Given the description of an element on the screen output the (x, y) to click on. 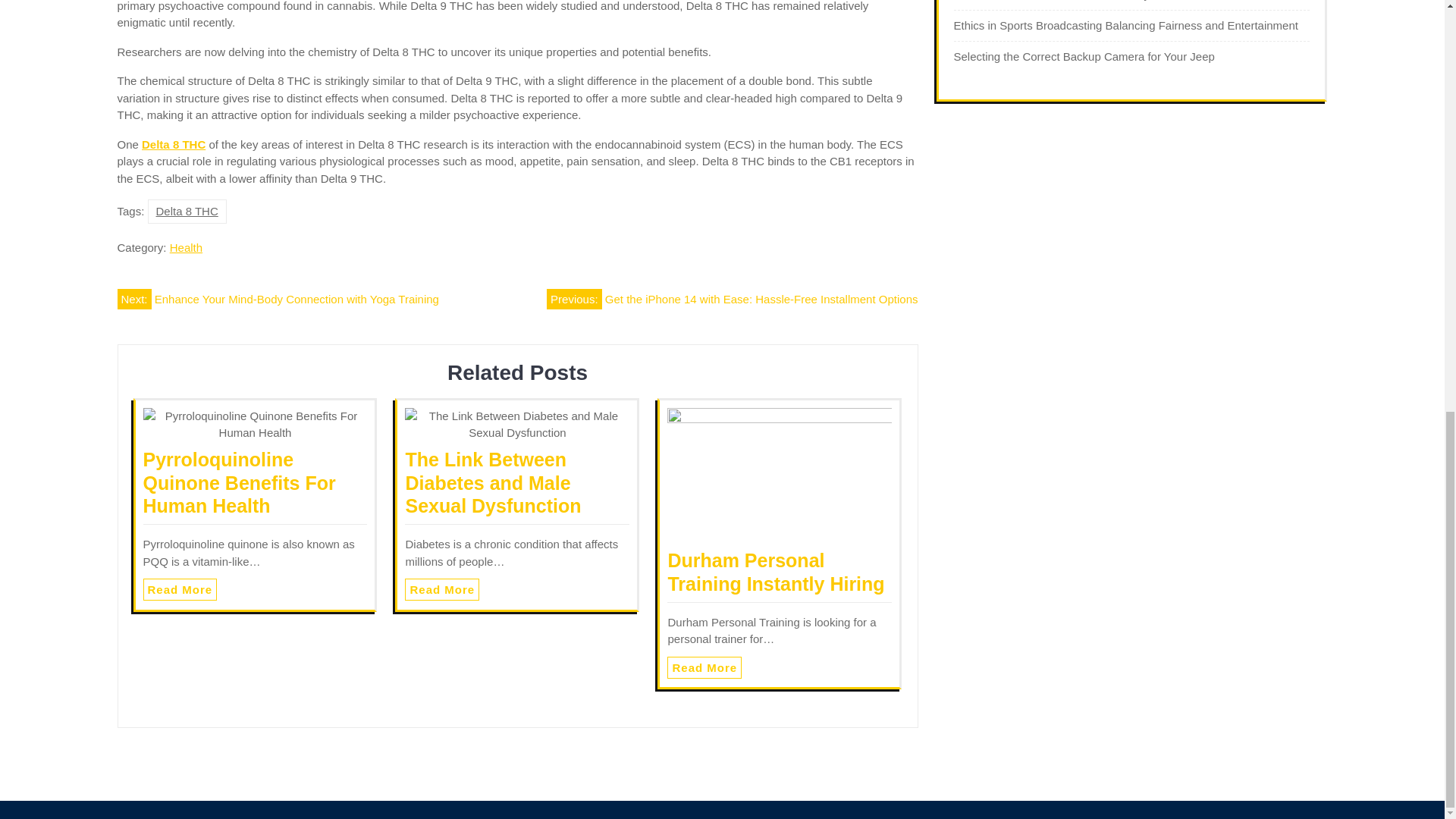
Read More (703, 667)
Pyrroloquinoline Quinone Benefits For Human Health (238, 482)
Next: Enhance Your Mind-Body Connection with Yoga Training (277, 299)
Durham Personal Training Instantly Hiring (774, 571)
Health (186, 246)
Delta 8 THC (173, 144)
Pyrroloquinoline Quinone Benefits For Human Health (238, 482)
Durham Personal Training Instantly Hiring (774, 571)
Read More (179, 589)
The Link Between Diabetes and Male Sexual Dysfunction (492, 482)
Read More (441, 589)
Selecting the Correct Backup Camera for Your Jeep (1083, 56)
